Given the description of an element on the screen output the (x, y) to click on. 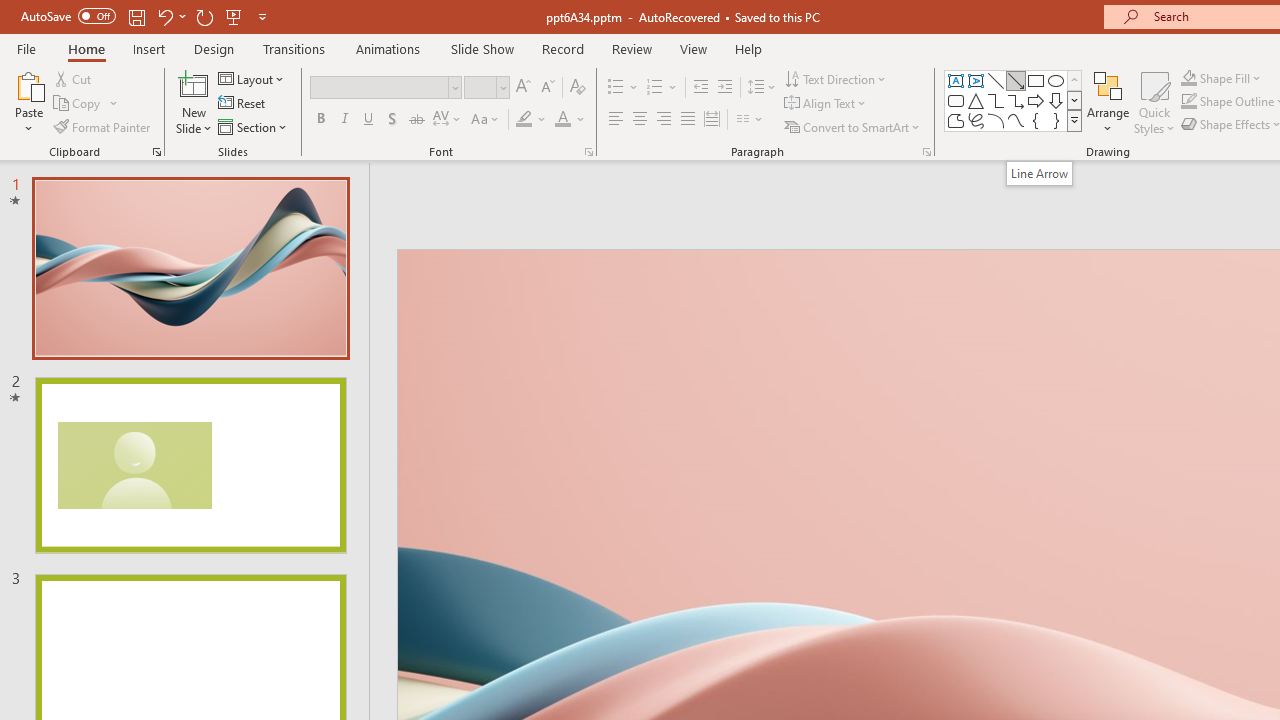
Arrange (1108, 102)
Decrease Indent (700, 87)
Line Arrow (1016, 80)
Align Text (826, 103)
Arrow: Down (1055, 100)
Office Clipboard... (156, 151)
Underline (369, 119)
Shape Fill (1188, 78)
Columns (750, 119)
Justify (687, 119)
